Given the description of an element on the screen output the (x, y) to click on. 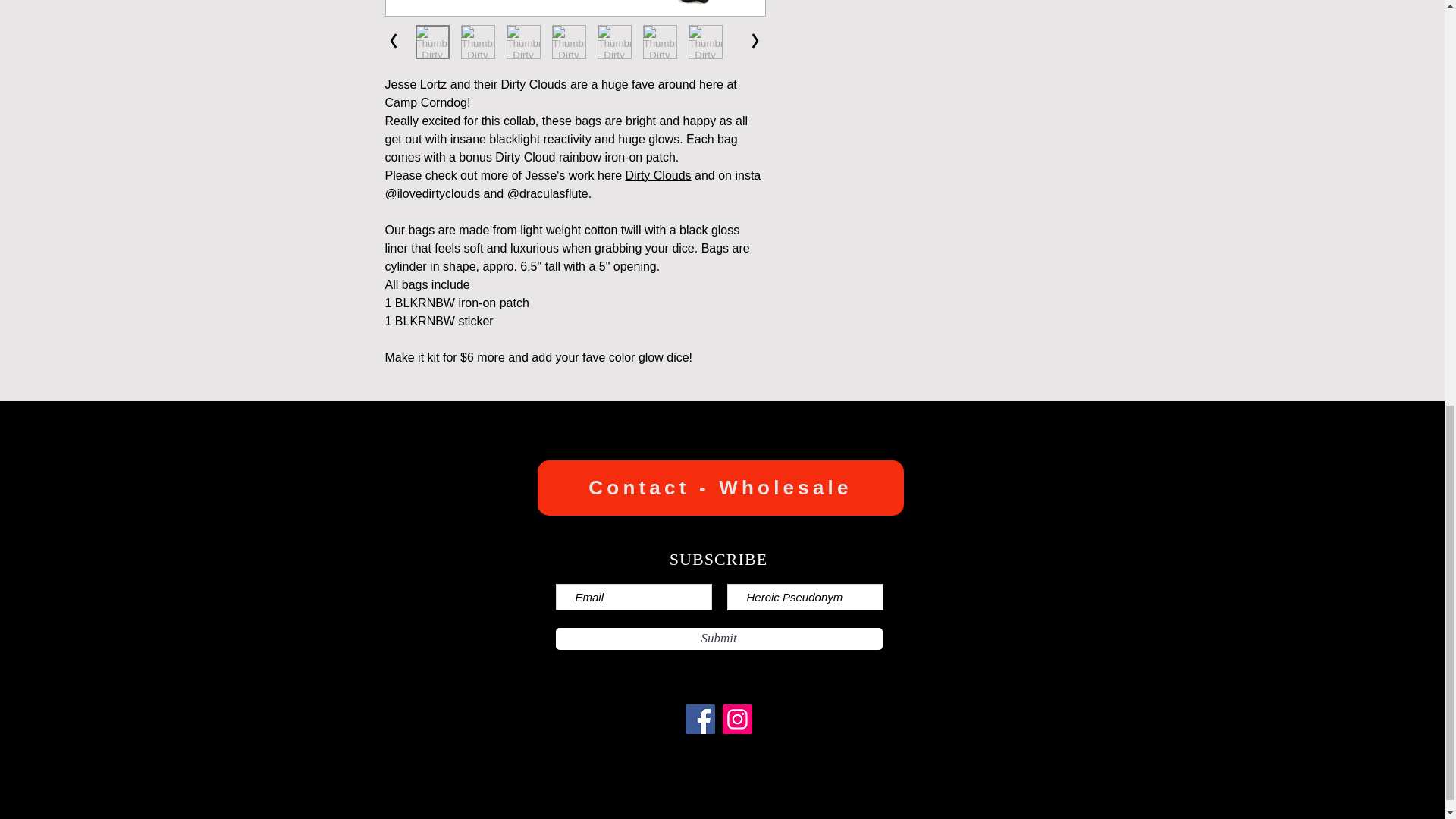
Submit (718, 639)
Contact - Wholesale (719, 487)
Dirty Clouds (657, 174)
